Given the description of an element on the screen output the (x, y) to click on. 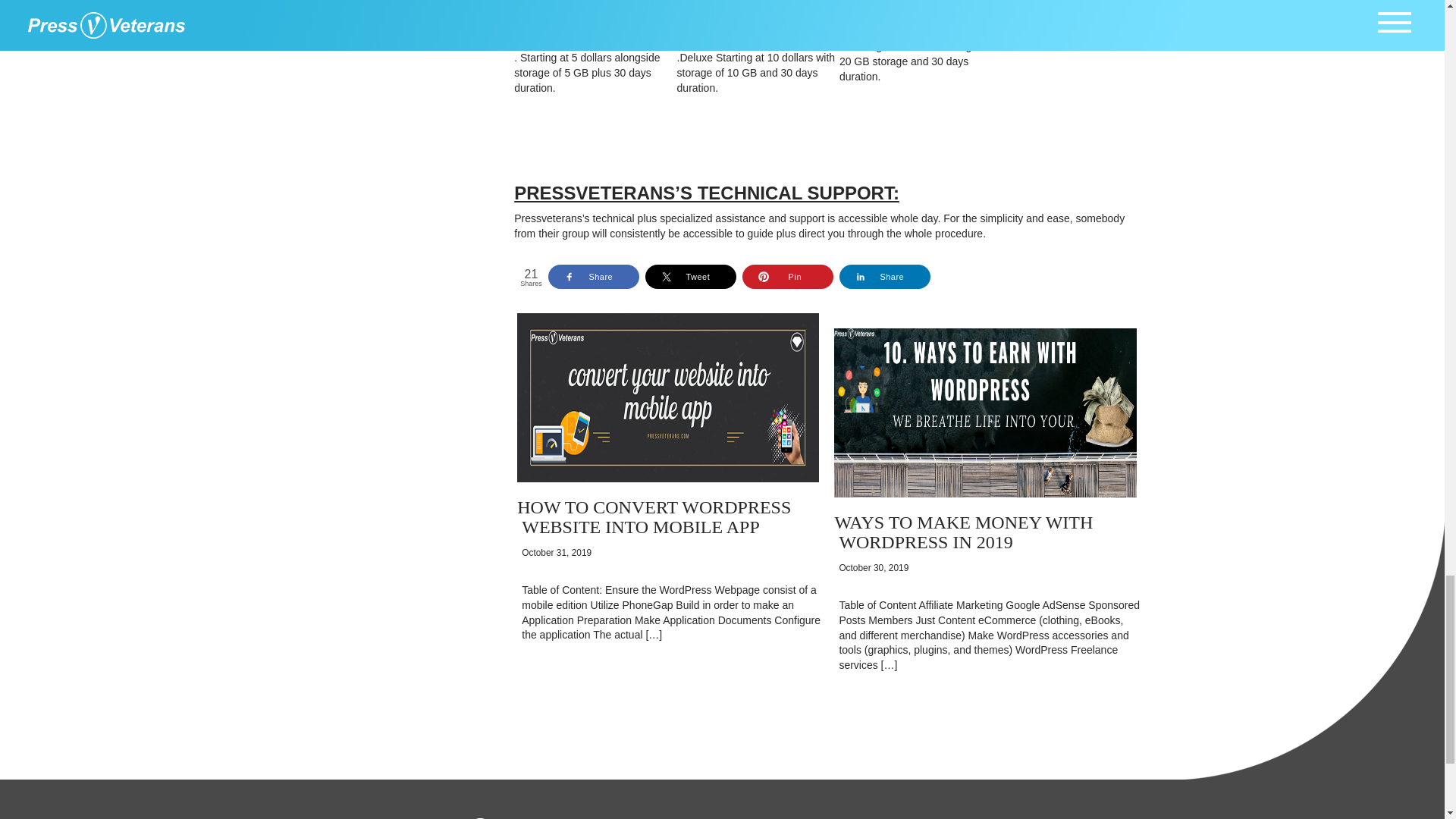
HOW TO CONVERT WORDPRESS WEBSITE INTO MOBILE APP (653, 517)
WAYS TO MAKE MONEY WITH WORDPRESS IN 2019 (963, 532)
